Given the description of an element on the screen output the (x, y) to click on. 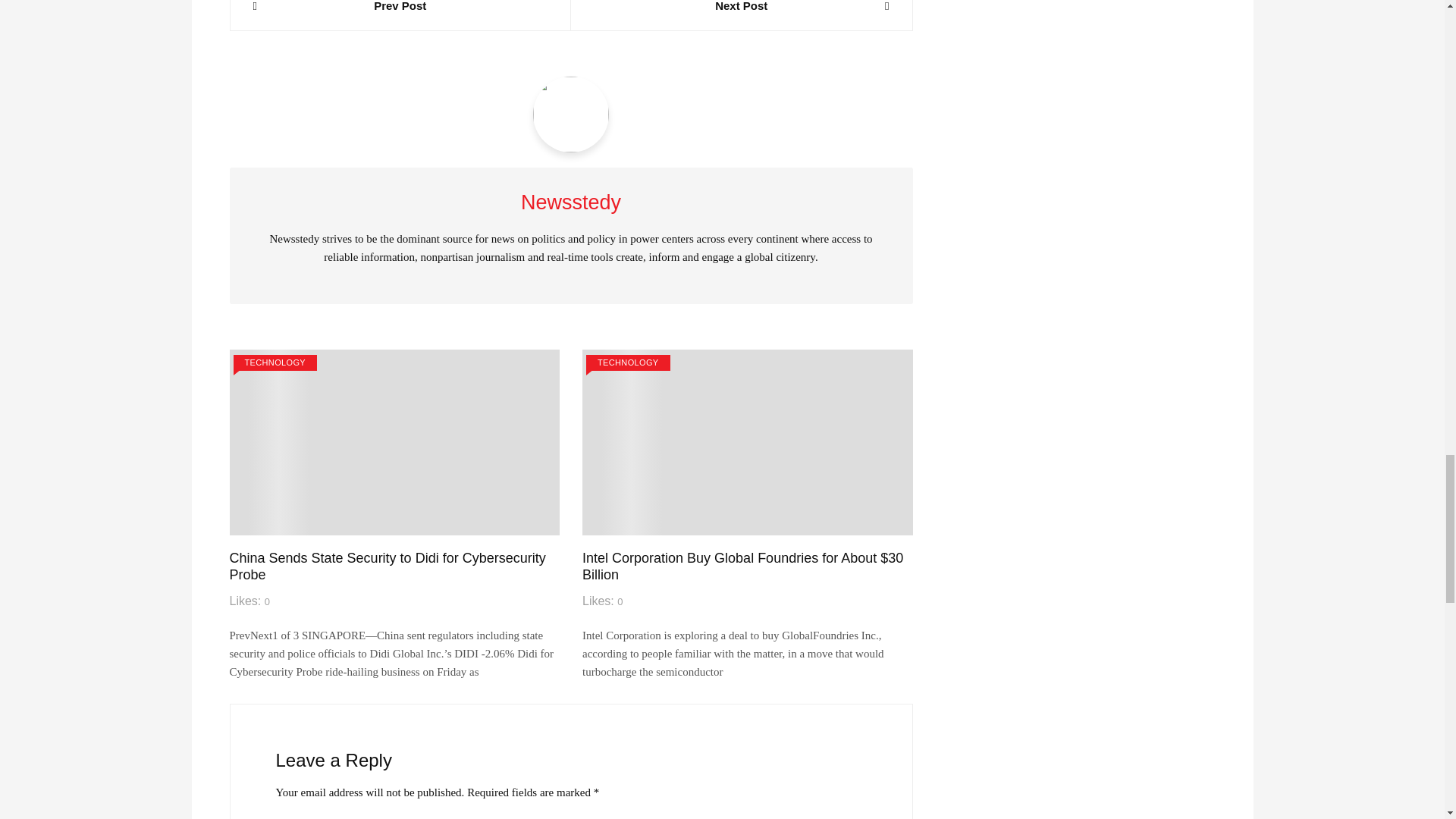
Prev Post (400, 7)
TECHNOLOGY (274, 362)
China Sends State Security to Didi for Cybersecurity Probe (386, 566)
Next Post (741, 7)
